Given the description of an element on the screen output the (x, y) to click on. 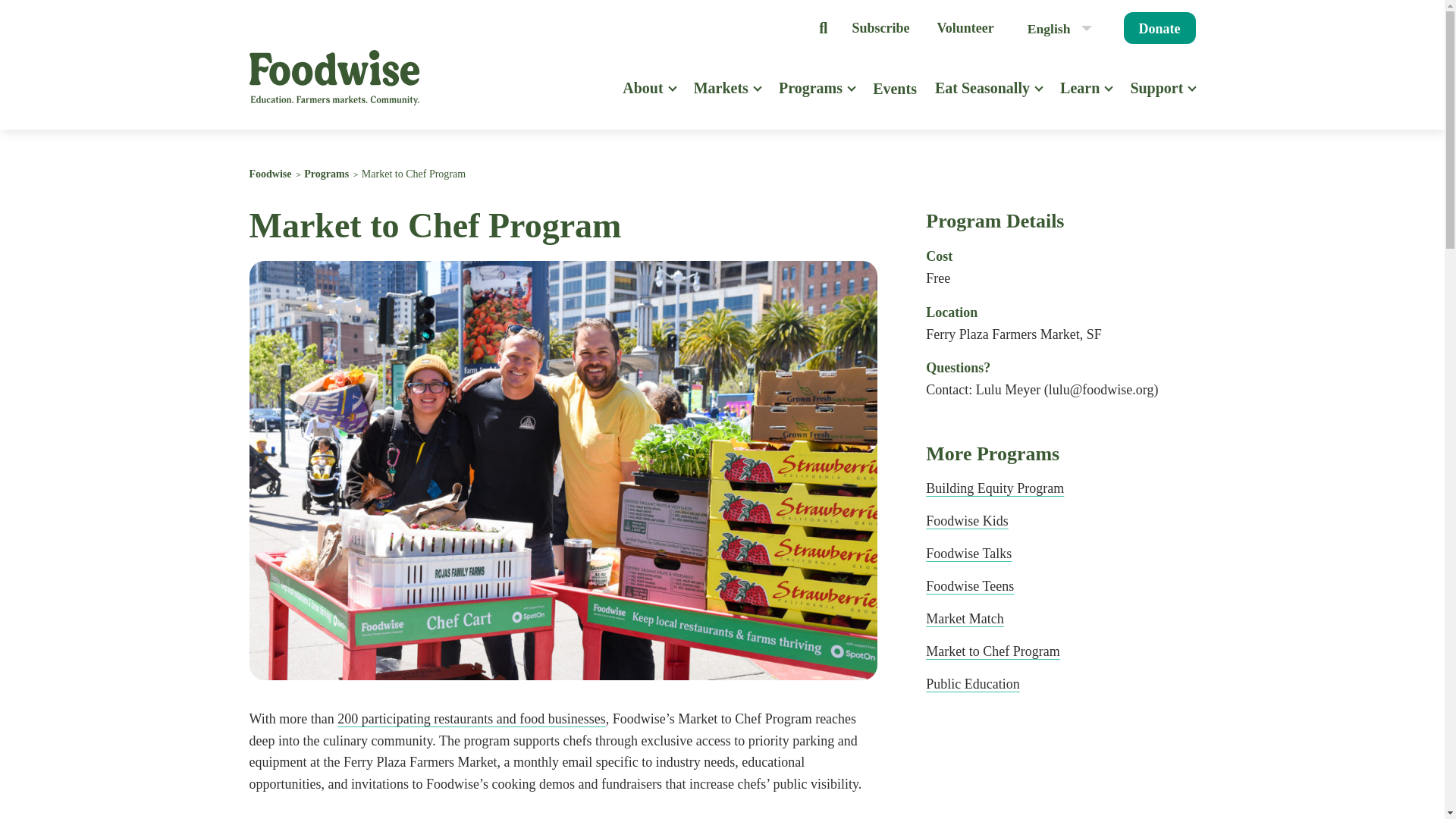
Learn (1079, 98)
Eat Seasonally (981, 98)
About (642, 98)
Programs (810, 98)
Events (894, 98)
About (642, 98)
Search (822, 28)
Volunteer (964, 27)
Subscribe (879, 27)
Programs (810, 98)
Markets (721, 98)
Markets (721, 98)
Donate (1159, 28)
